Given the description of an element on the screen output the (x, y) to click on. 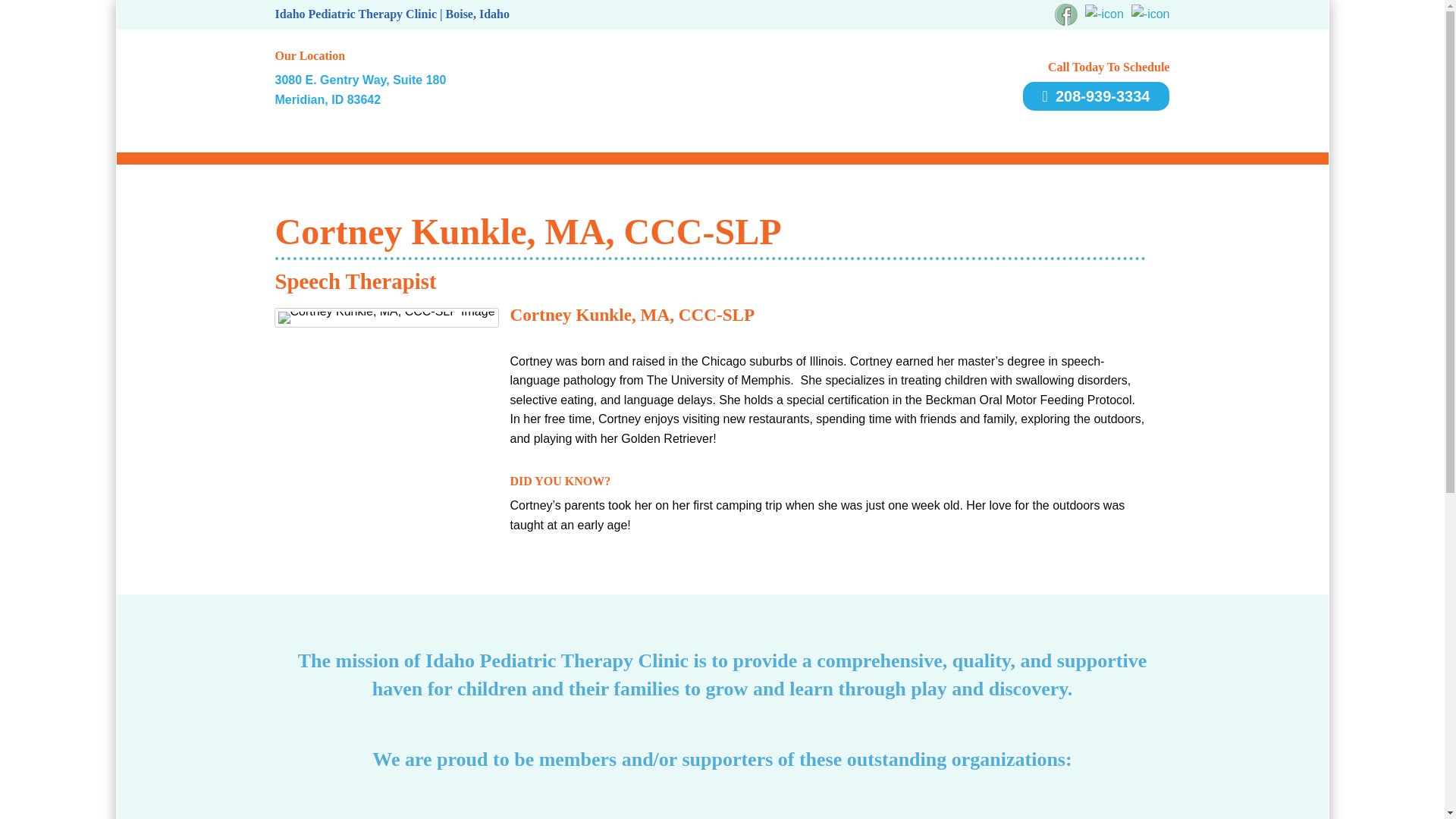
Cortney Kunkle, MA, CCC-SLP (386, 317)
Local: 208-939-3334 (1096, 95)
208-939-3334 (1096, 95)
